Given the description of an element on the screen output the (x, y) to click on. 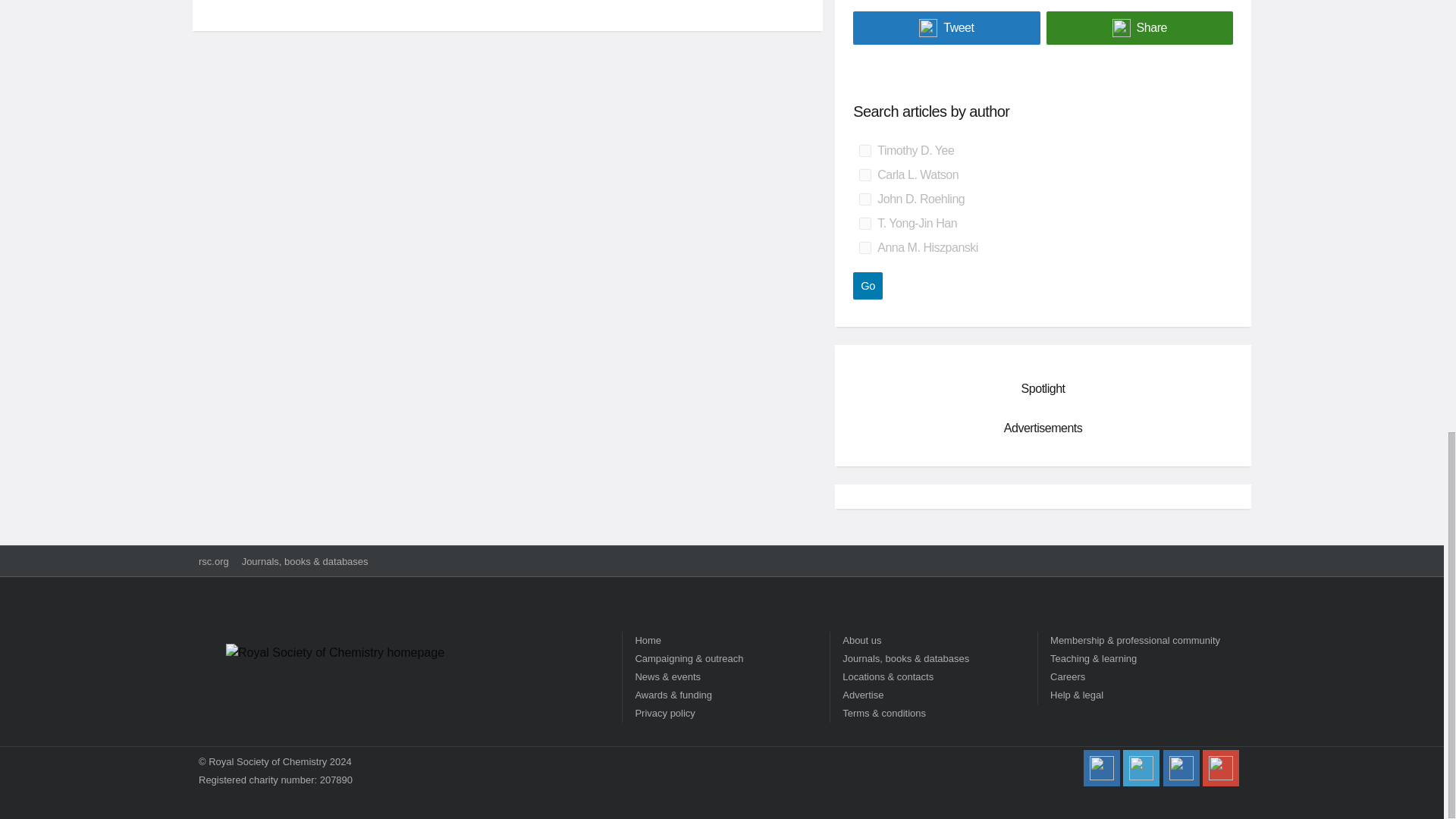
Go (867, 285)
on (864, 199)
on (864, 223)
Go (867, 285)
on (864, 174)
on (864, 150)
on (864, 247)
